Given the description of an element on the screen output the (x, y) to click on. 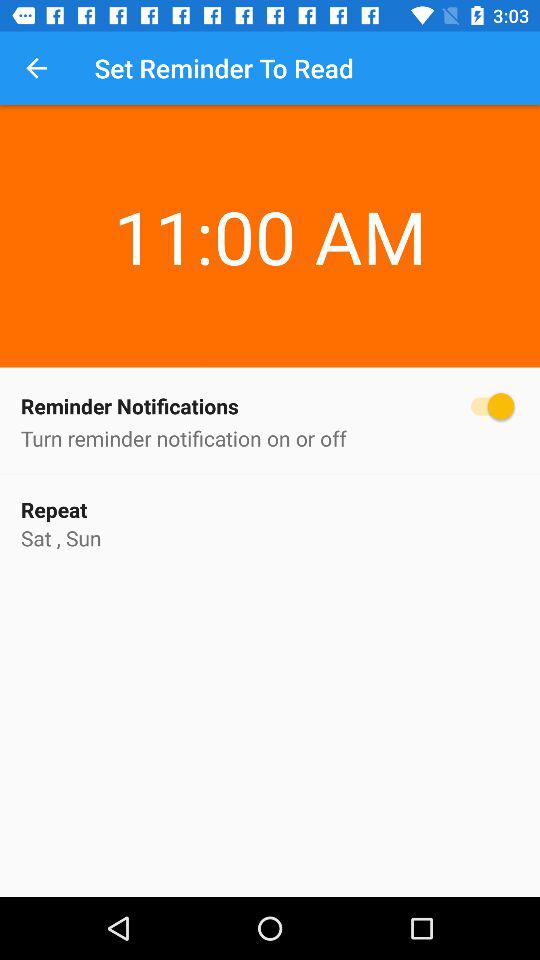
open icon to the left of the set reminder to (36, 68)
